Given the description of an element on the screen output the (x, y) to click on. 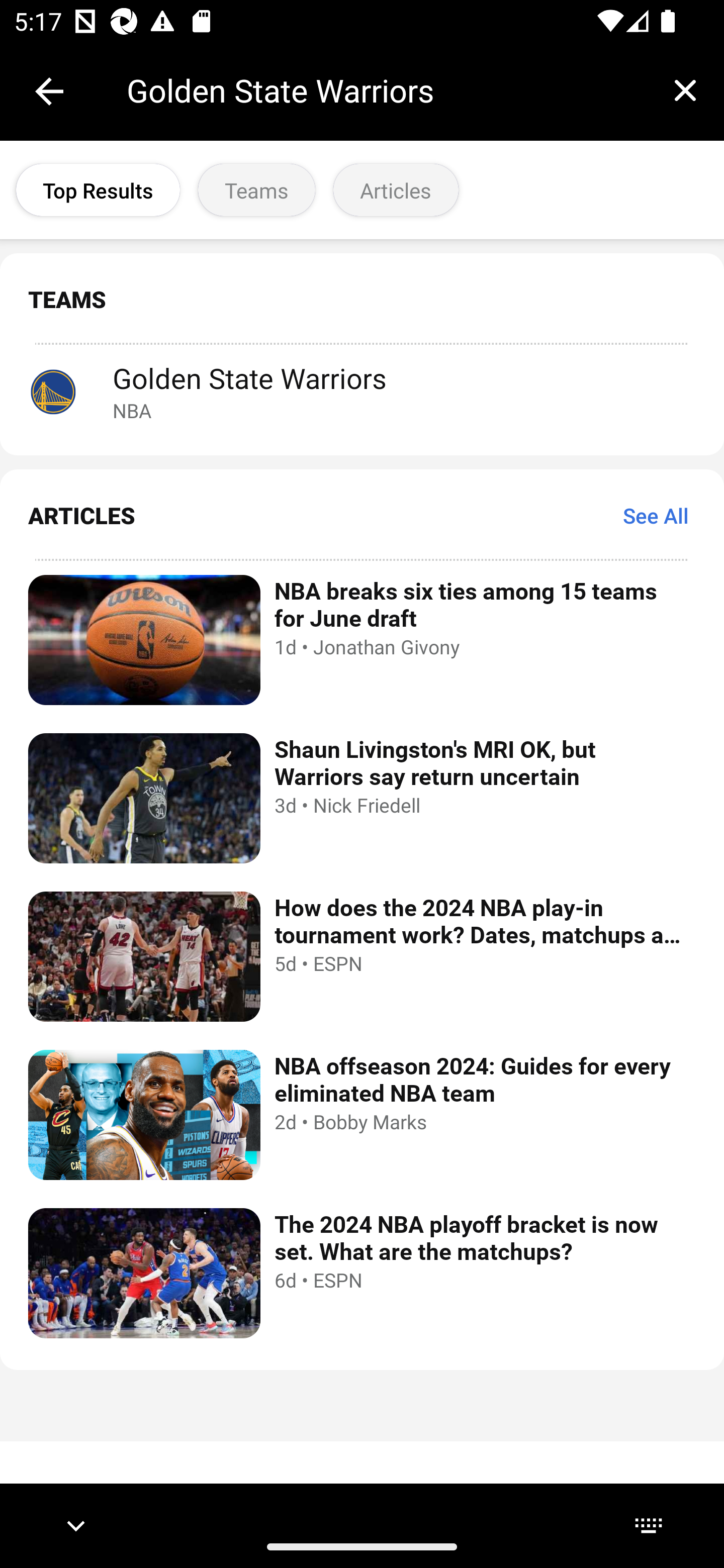
Collapse (49, 91)
Clear query (685, 89)
Golden State Warriors (386, 90)
Top Results (97, 190)
Teams (256, 190)
Articles (395, 190)
See All (655, 514)
